Given the description of an element on the screen output the (x, y) to click on. 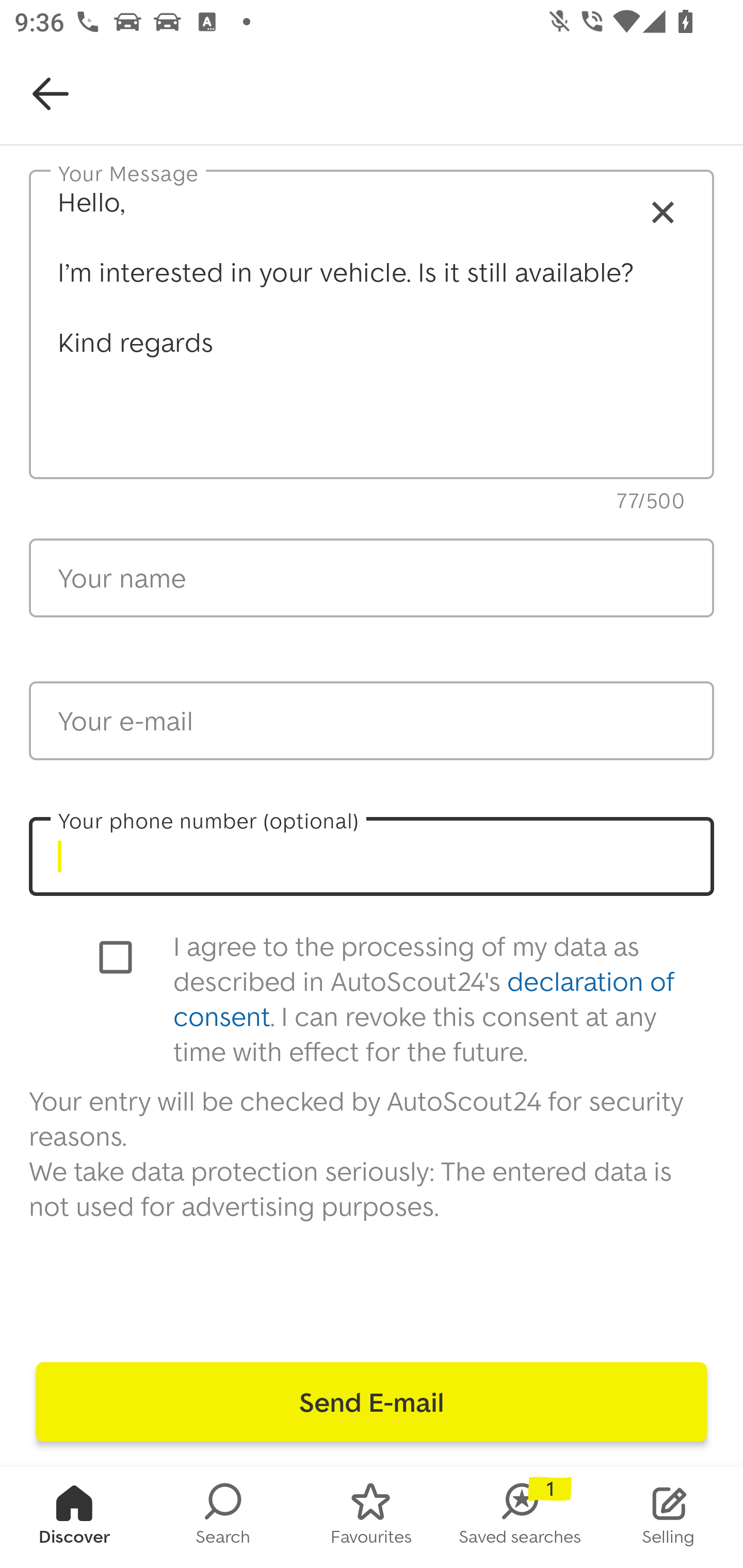
Navigate up (50, 93)
Your name (371, 577)
Your e-mail (371, 721)
Your phone number (optional) (371, 855)
Send E-mail (371, 1401)
HOMESCREEN Discover (74, 1517)
SEARCH Search (222, 1517)
FAVORITES Favourites (371, 1517)
SAVED_SEARCHES Saved searches 1 (519, 1517)
STOCK_LIST Selling (668, 1517)
